Given the description of an element on the screen output the (x, y) to click on. 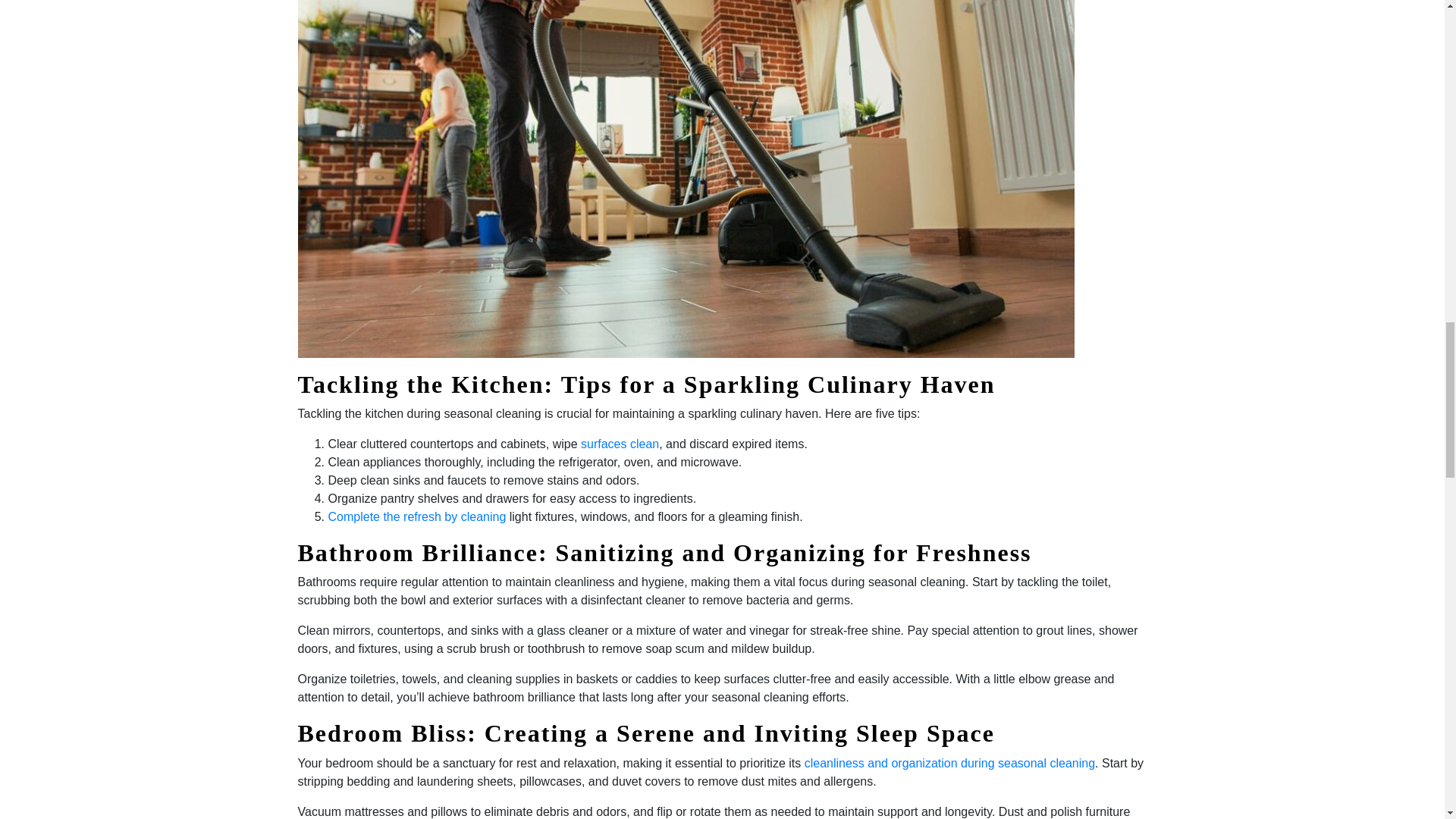
surfaces clean (619, 443)
Complete the refresh by cleaning (416, 516)
cleanliness and organization during seasonal cleaning (949, 762)
